Given the description of an element on the screen output the (x, y) to click on. 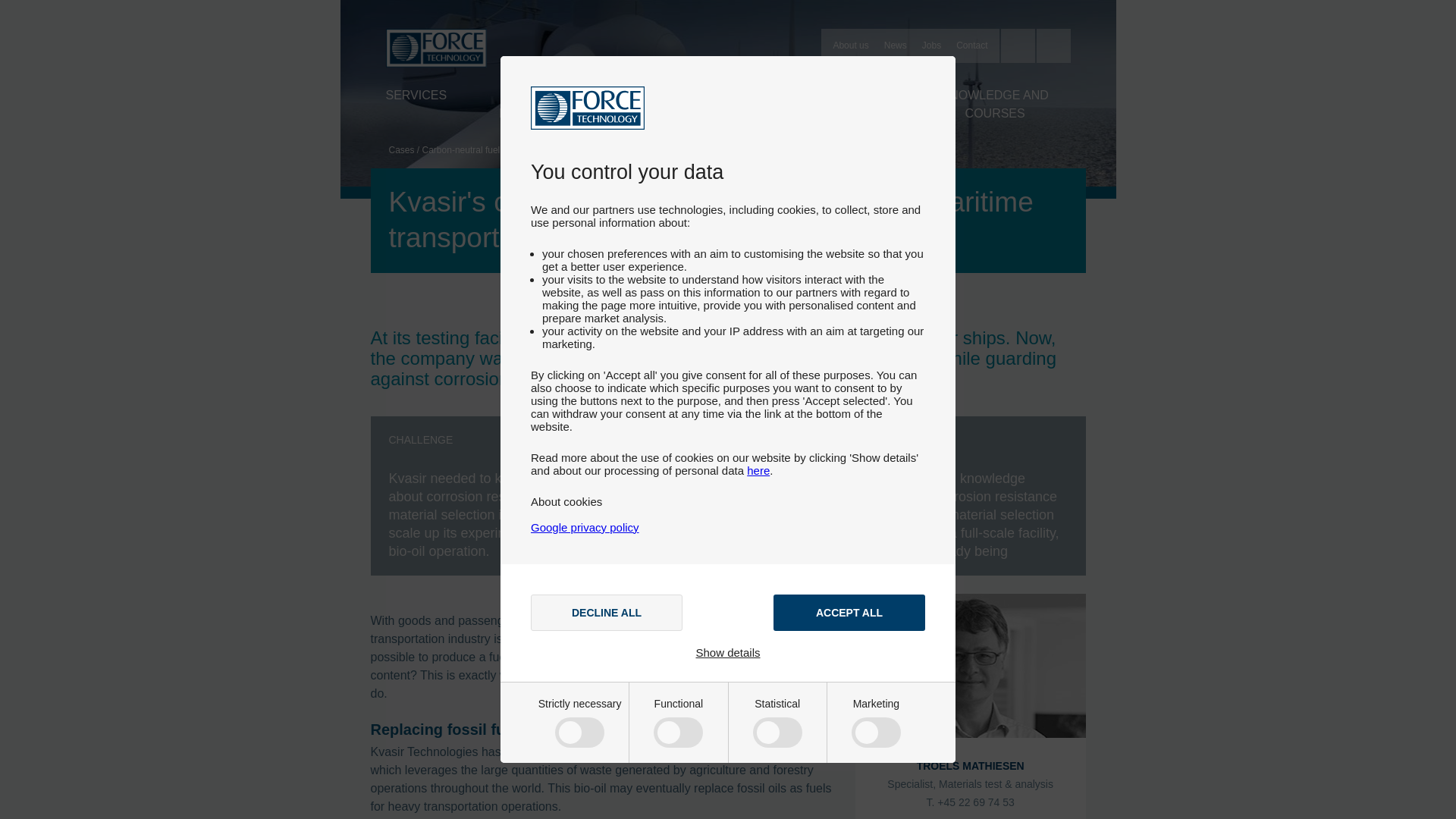
About cookies (566, 501)
Google privacy policy (585, 526)
DECLINE ALL (606, 612)
ACCEPT ALL (848, 612)
here (758, 470)
Show details (727, 652)
